Given the description of an element on the screen output the (x, y) to click on. 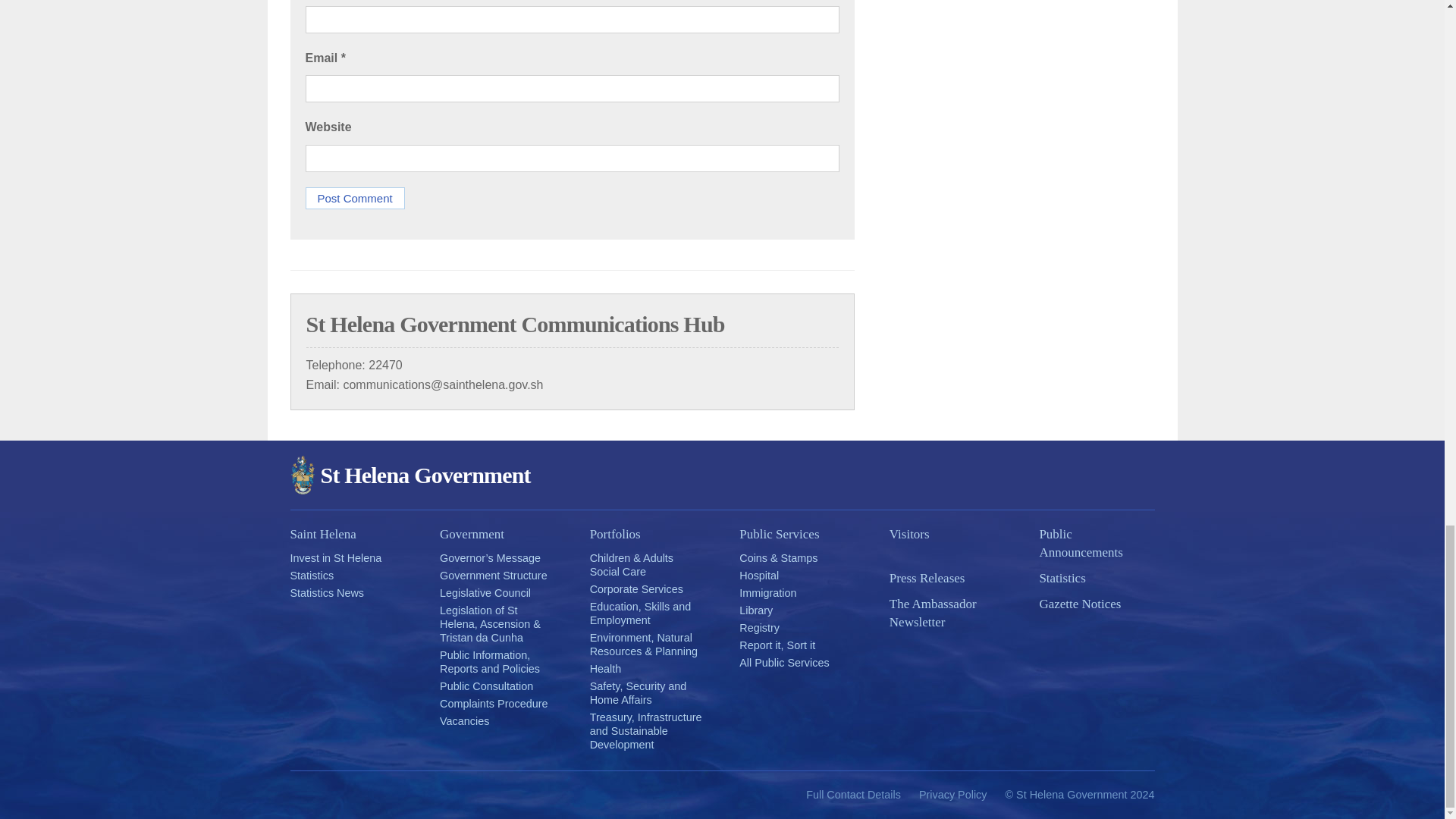
Information for investors (335, 558)
Information for visitors (946, 534)
Post Comment (354, 198)
